Given the description of an element on the screen output the (x, y) to click on. 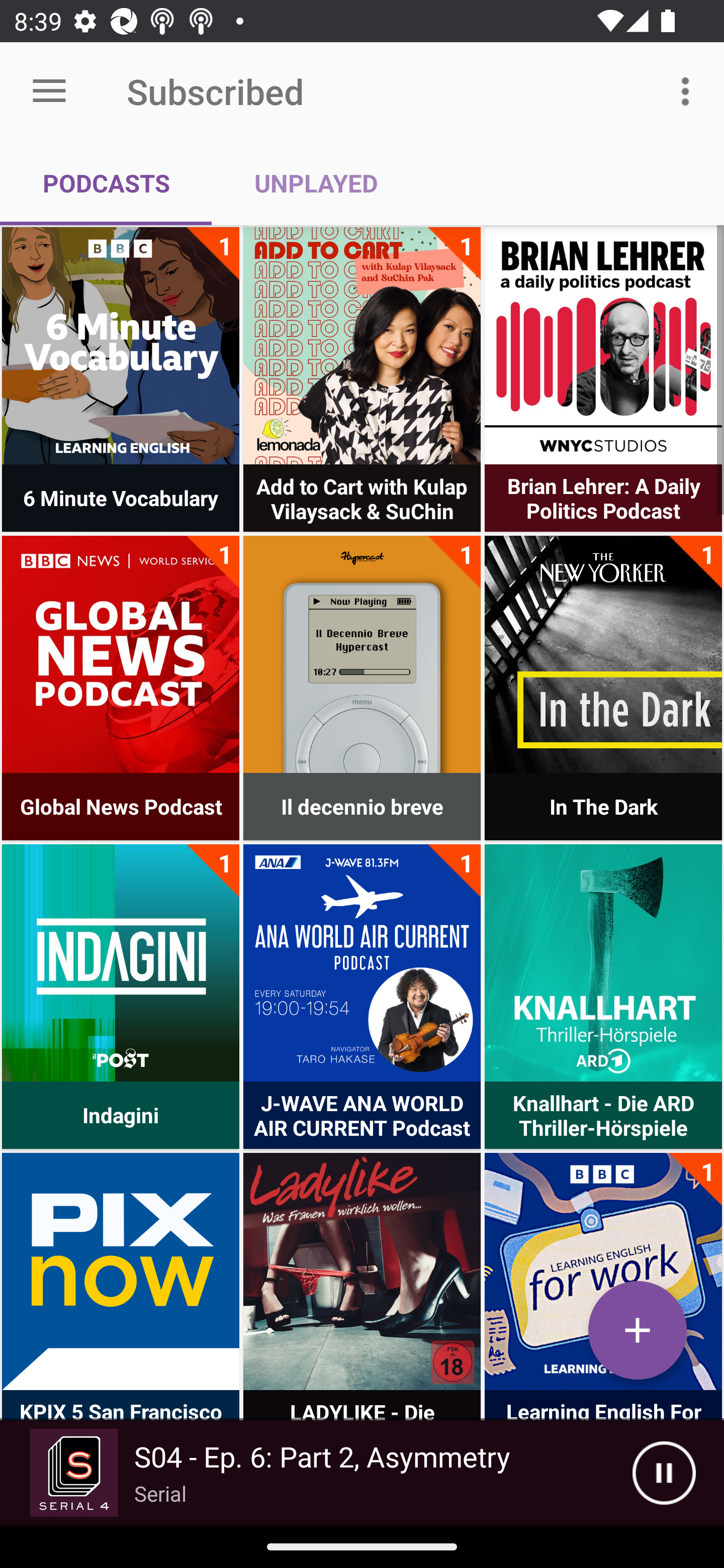
Open menu (49, 91)
More options (688, 90)
PODCASTS (105, 183)
UNPLAYED (315, 183)
6 Minute Vocabulary (120, 345)
Add to Cart with Kulap Vilaysack & SuChin Pak (361, 345)
Brian Lehrer: A Daily Politics Podcast (602, 345)
Global News Podcast (120, 654)
Il decennio breve (361, 654)
In The Dark (602, 654)
Indagini (120, 962)
J-WAVE ANA WORLD AIR CURRENT Podcast (361, 962)
Knallhart - Die ARD Thriller-Hörspiele (602, 962)
KPIX 5 San Francisco Bay Area (120, 1271)
Learning English For Work (602, 1271)
Picture S04 - Ep. 6: Part 2, Asymmetry Serial (316, 1472)
Pause (663, 1472)
